Given the description of an element on the screen output the (x, y) to click on. 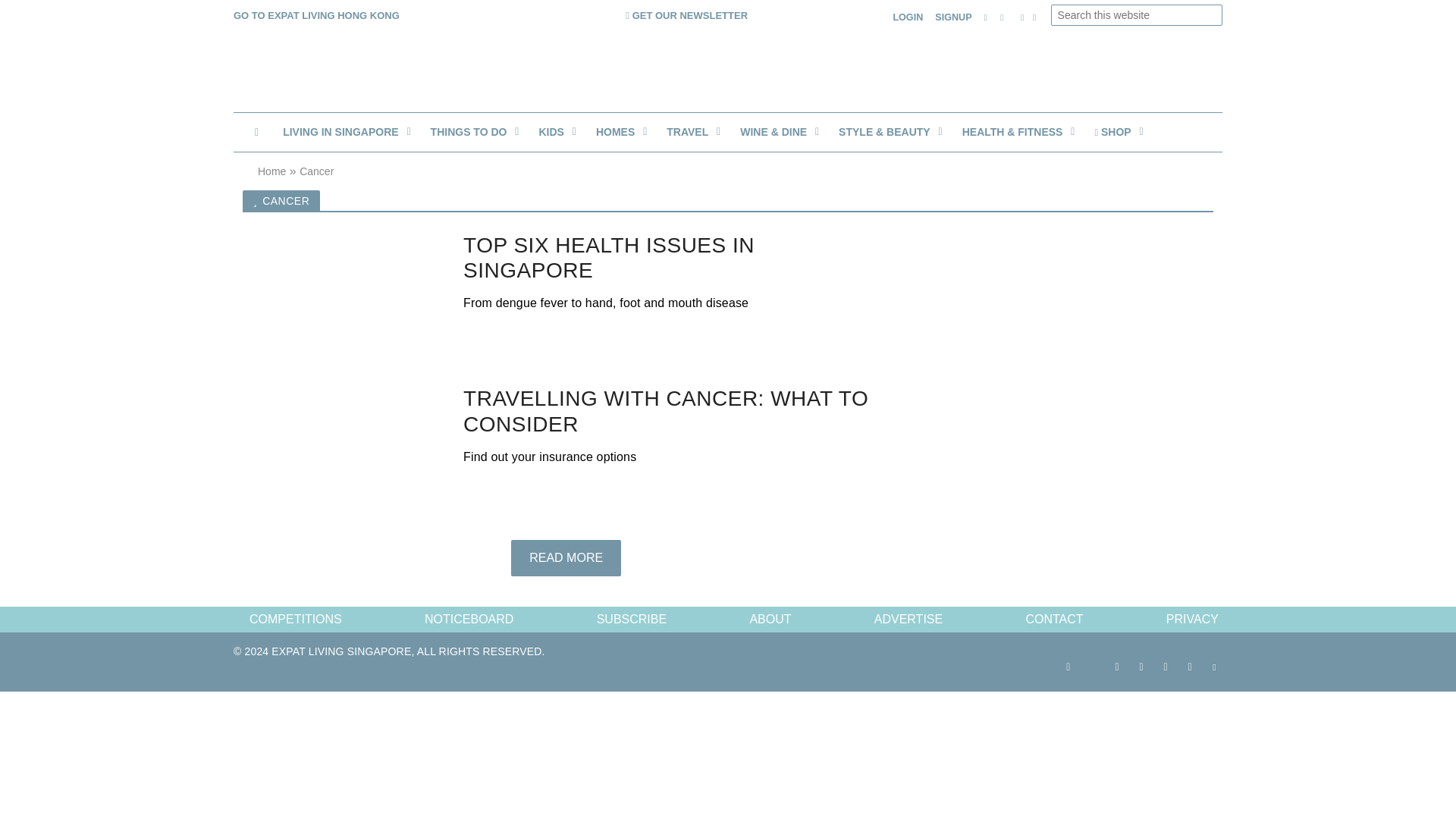
SIGNUP (952, 17)
LOGIN (907, 17)
GO TO EXPAT LIVING HONG KONG (315, 14)
THINGS TO DO (473, 131)
LIVING IN SINGAPORE (343, 131)
GET OUR NEWSLETTER (687, 14)
